Given the description of an element on the screen output the (x, y) to click on. 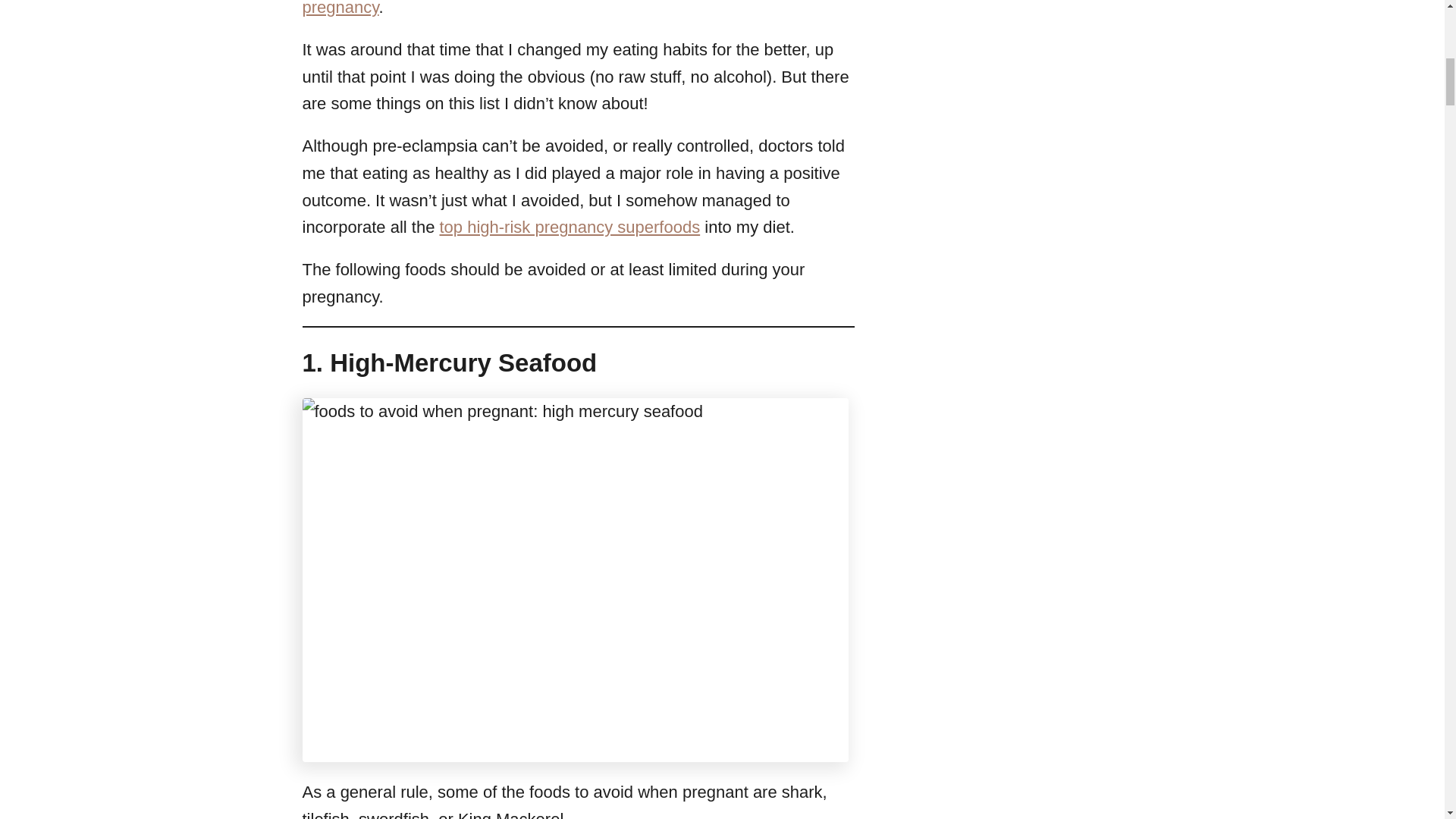
high-risk pregnancy (558, 8)
top high-risk pregnancy superfoods (569, 226)
